Given the description of an element on the screen output the (x, y) to click on. 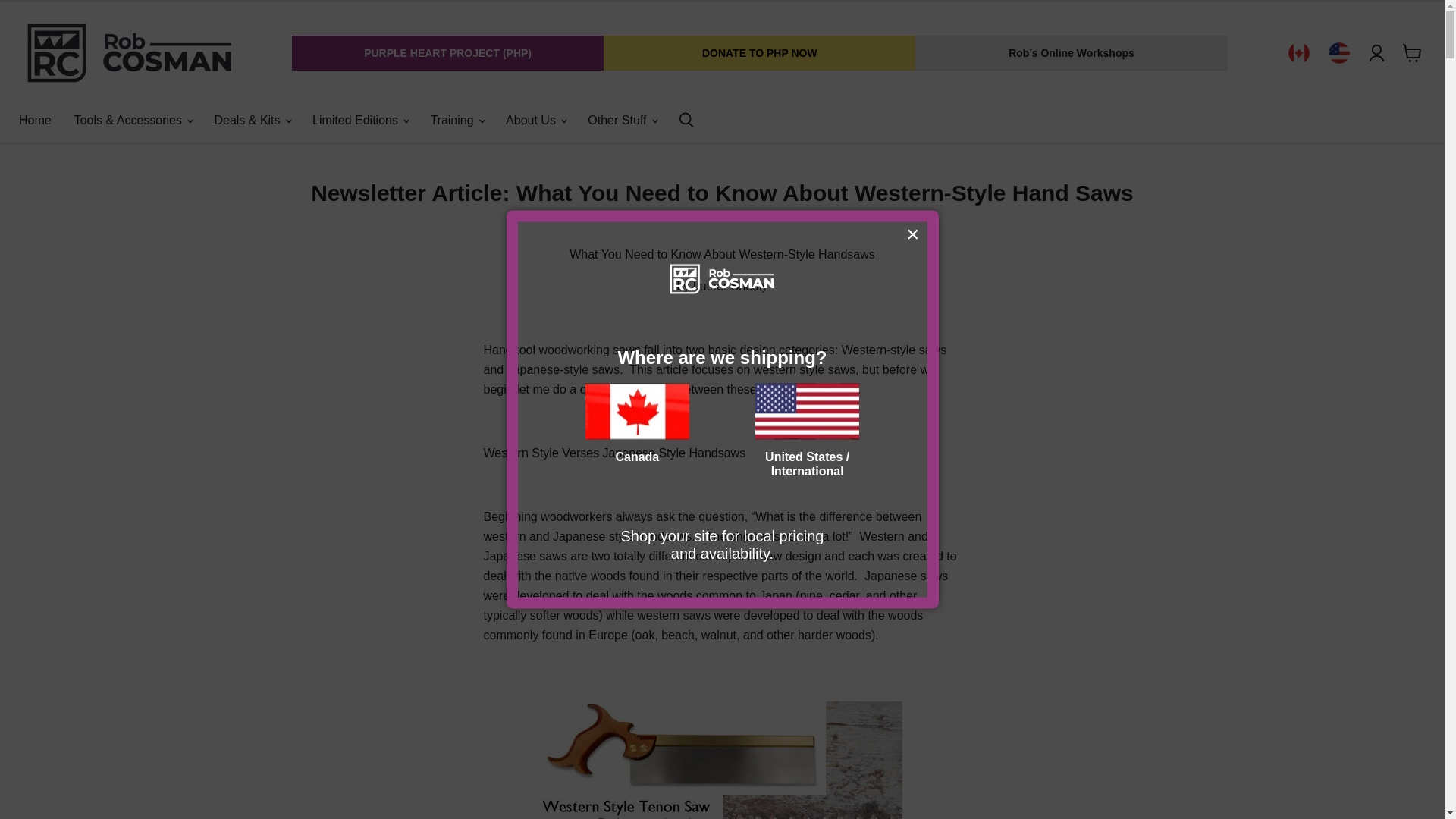
DONATE TO PHP NOW (759, 53)
View cart (1411, 52)
Home (34, 120)
